Given the description of an element on the screen output the (x, y) to click on. 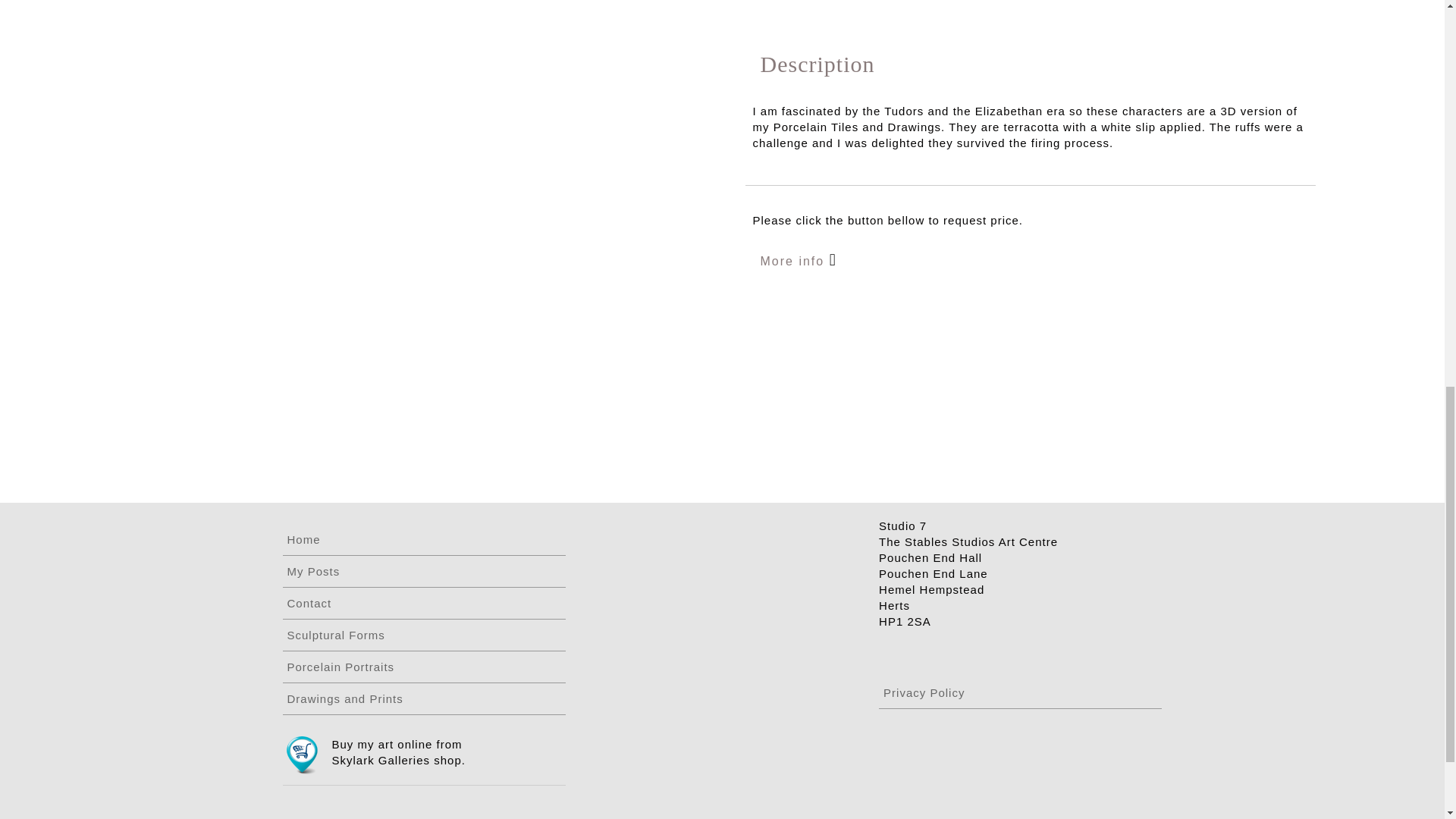
Contact (423, 603)
Privacy Policy (1020, 692)
More info (798, 258)
Drawings and Prints (423, 698)
More info (794, 260)
Porcelain Portraits (423, 667)
Home (423, 539)
Sculptural Forms (423, 635)
My Posts (423, 571)
